Given the description of an element on the screen output the (x, y) to click on. 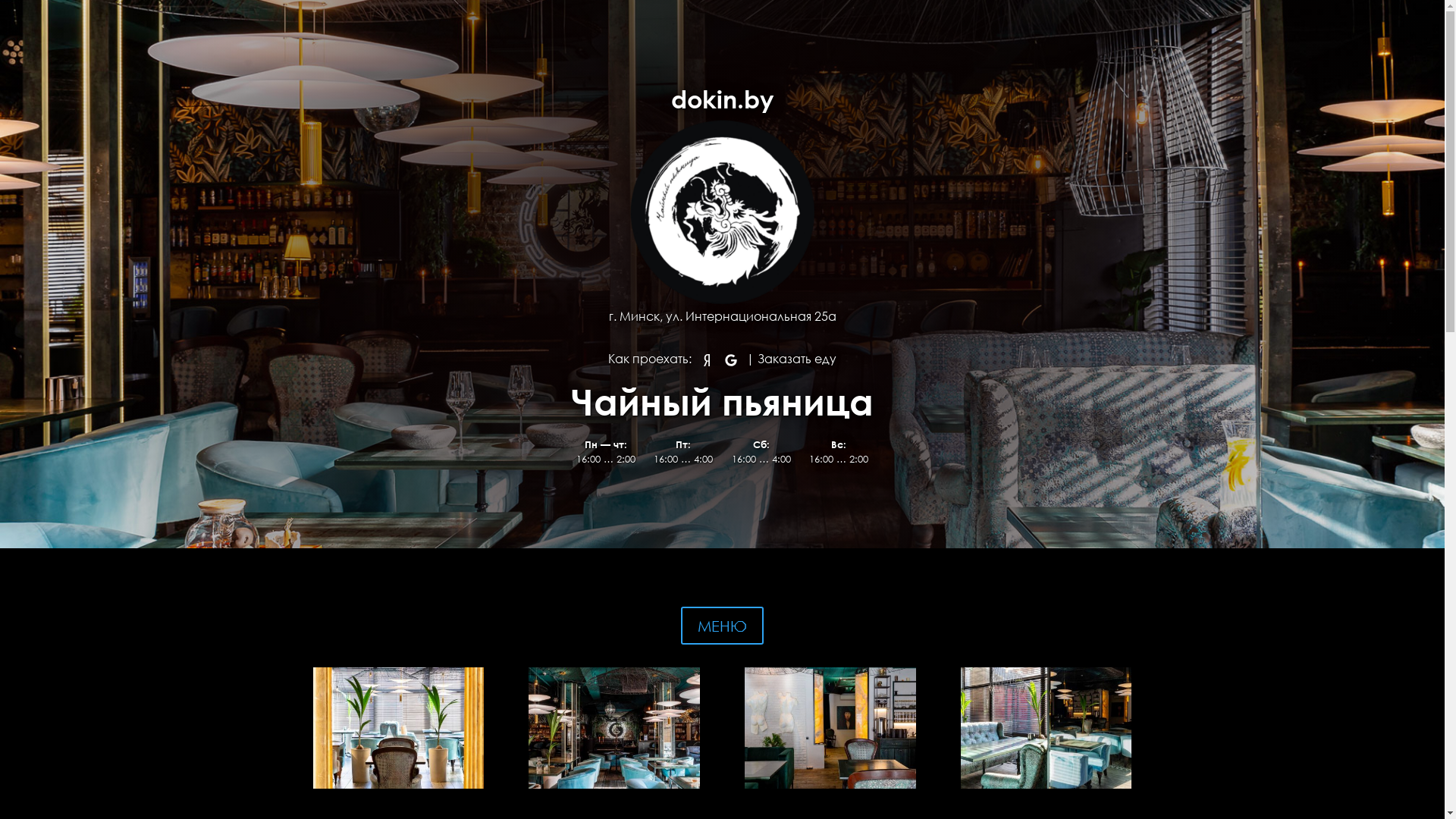
photo_2022-10-26_23-53-36 Element type: hover (1045, 726)
dokin.by Element type: text (721, 98)
photo_2022-10-26_23-53-29 Element type: hover (613, 726)
photo_2022-10-26_23-53-12 Element type: hover (397, 726)
photo_2022-10-26_23-53-33 Element type: hover (829, 726)
